Given the description of an element on the screen output the (x, y) to click on. 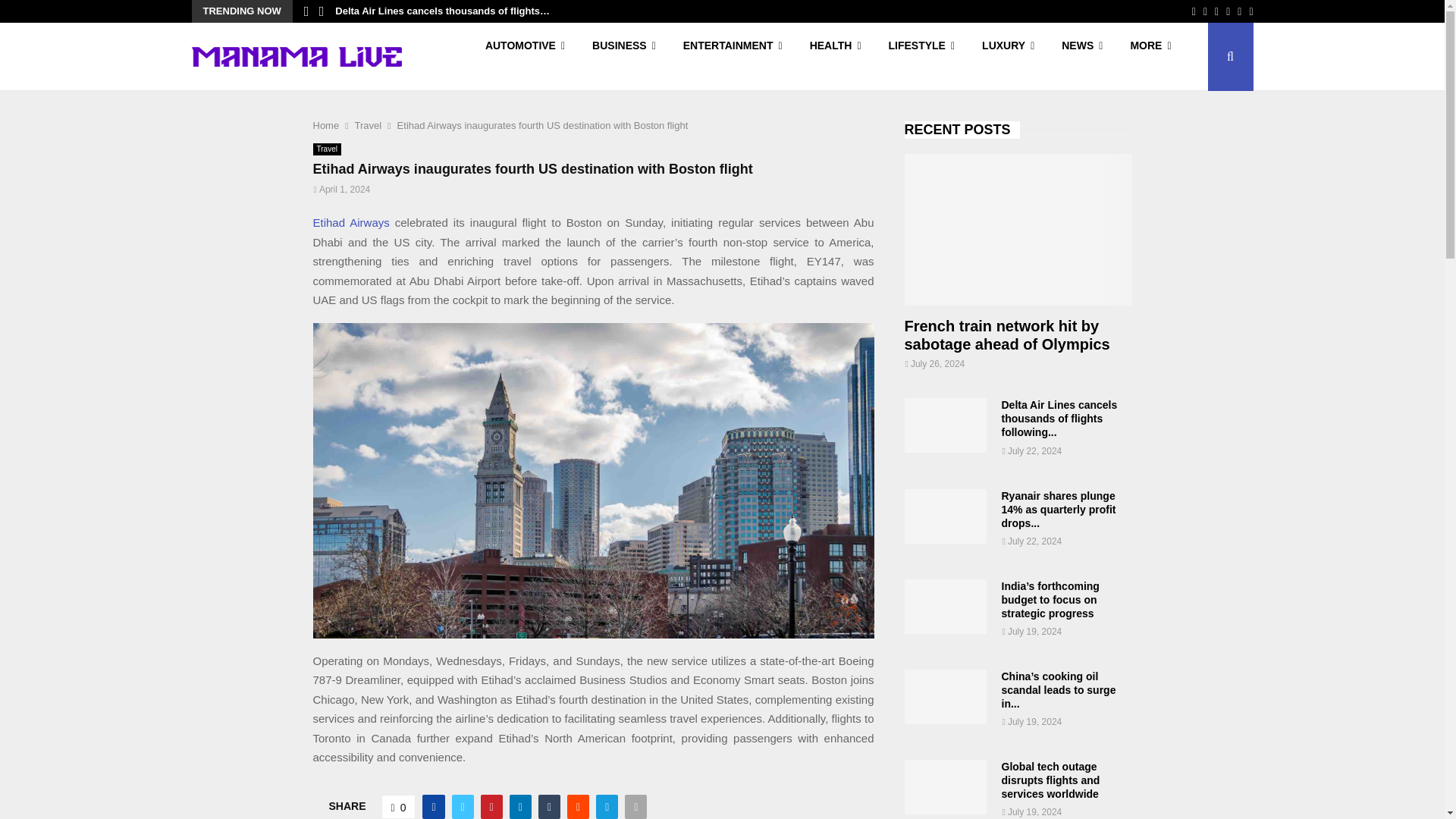
Pinterest (1227, 11)
Twitter (1205, 11)
Behance (1239, 11)
Youtube (1250, 11)
Facebook (1193, 11)
Behance (1239, 11)
Instagram (1216, 11)
Pinterest (1227, 11)
Instagram (1216, 11)
Facebook (1193, 11)
Twitter (1205, 11)
AUTOMOTIVE (524, 56)
Youtube (1250, 11)
